Given the description of an element on the screen output the (x, y) to click on. 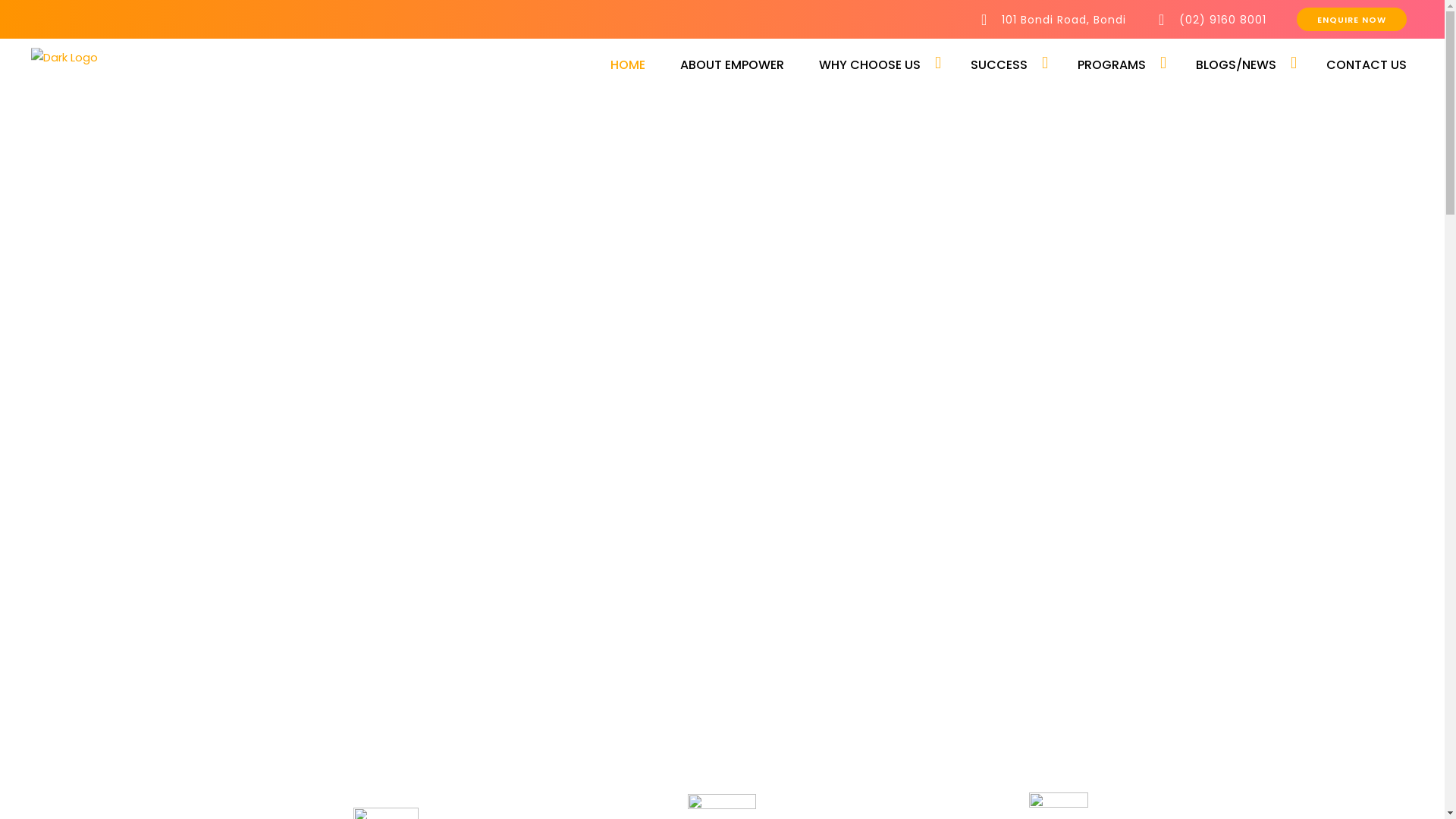
SUCCESS Element type: text (998, 64)
ABOUT EMPOWER Element type: text (731, 64)
ENQUIRE NOW Element type: text (1351, 19)
WHY CHOOSE US Element type: text (869, 64)
CONTACT US Element type: text (1357, 64)
BLOGS/NEWS Element type: text (1235, 64)
101 Bondi Road, Bondi Element type: text (1052, 18)
(02) 9160 8001 Element type: text (1211, 18)
HOME Element type: text (627, 64)
PROGRAMS Element type: text (1111, 64)
